Given the description of an element on the screen output the (x, y) to click on. 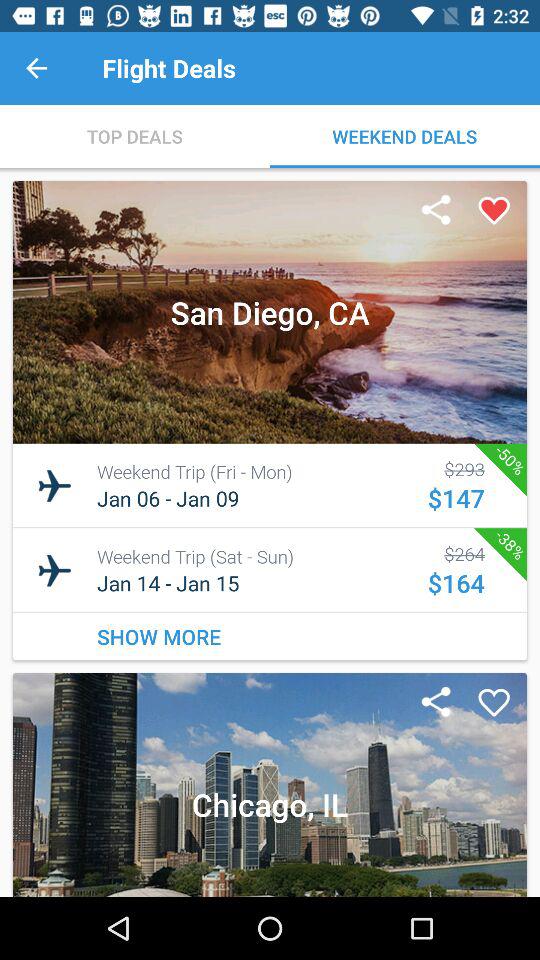
mark as favorite (494, 211)
